Given the description of an element on the screen output the (x, y) to click on. 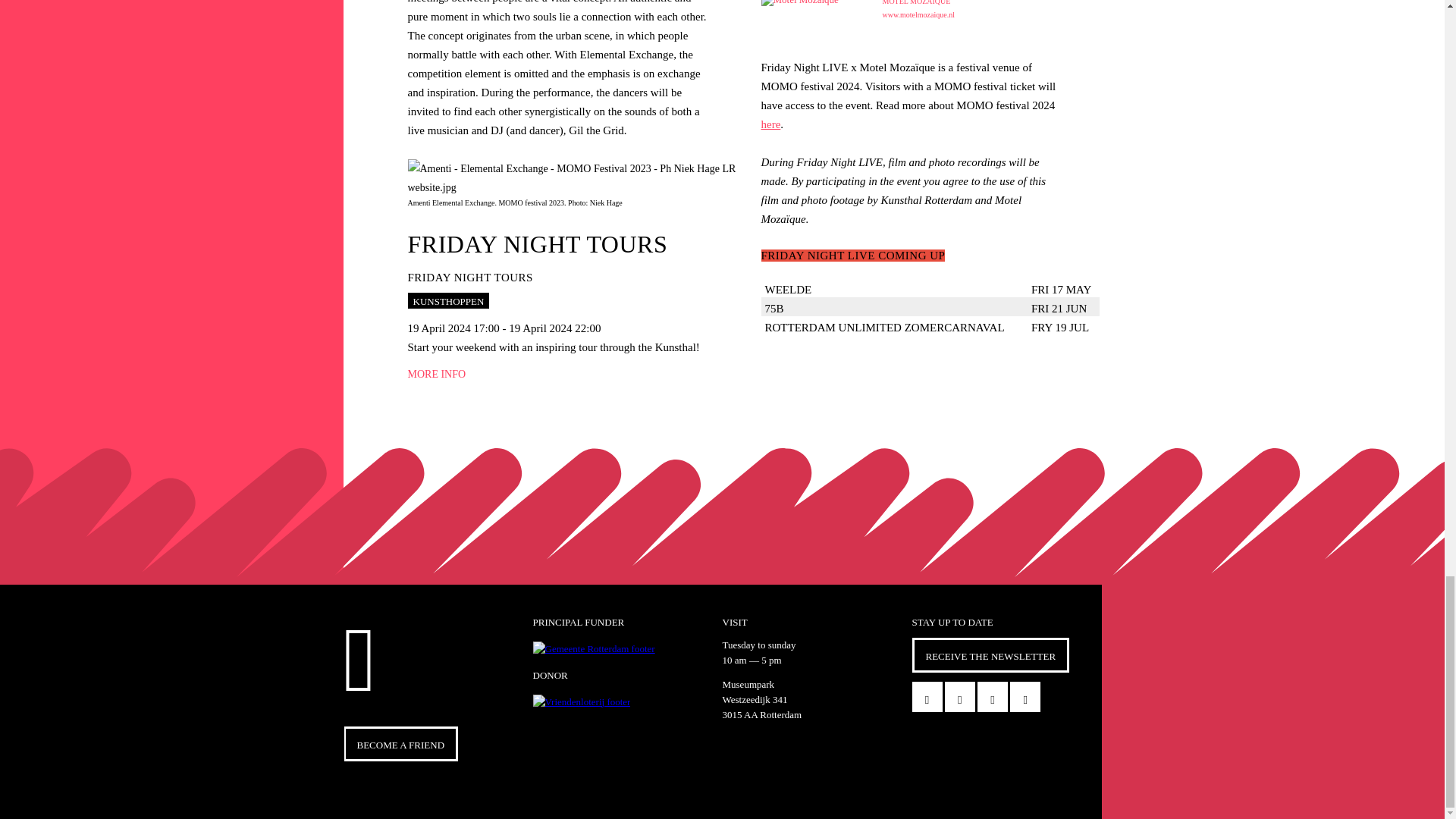
MORE INFO (576, 291)
Gemeente Rotterdam footer (436, 374)
Motel Mozaique (592, 648)
Vriendenloterij footer (799, 2)
here (581, 702)
